Given the description of an element on the screen output the (x, y) to click on. 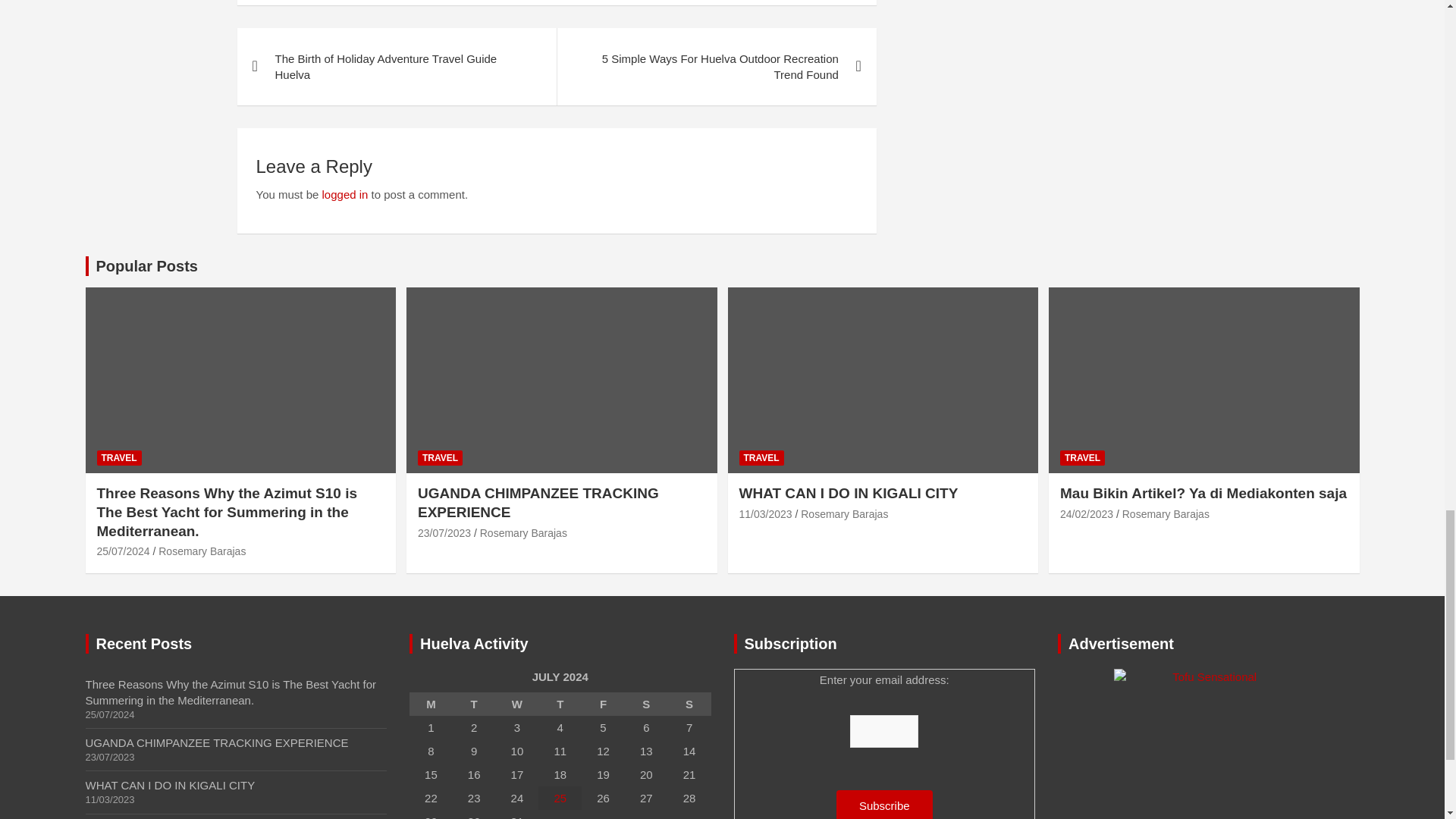
WHAT CAN I DO IN KIGALI CITY (765, 513)
The Birth of Holiday Adventure Travel Guide Huelva (395, 66)
UGANDA CHIMPANZEE TRACKING EXPERIENCE (443, 532)
5 Simple Ways For Huelva Outdoor Recreation Trend Found (716, 66)
Subscribe (884, 804)
Wednesday (517, 703)
logged in (344, 194)
Monday (430, 703)
Mau Bikin Artikel? Ya di Mediakonten saja (1086, 513)
Tuesday (474, 703)
